Given the description of an element on the screen output the (x, y) to click on. 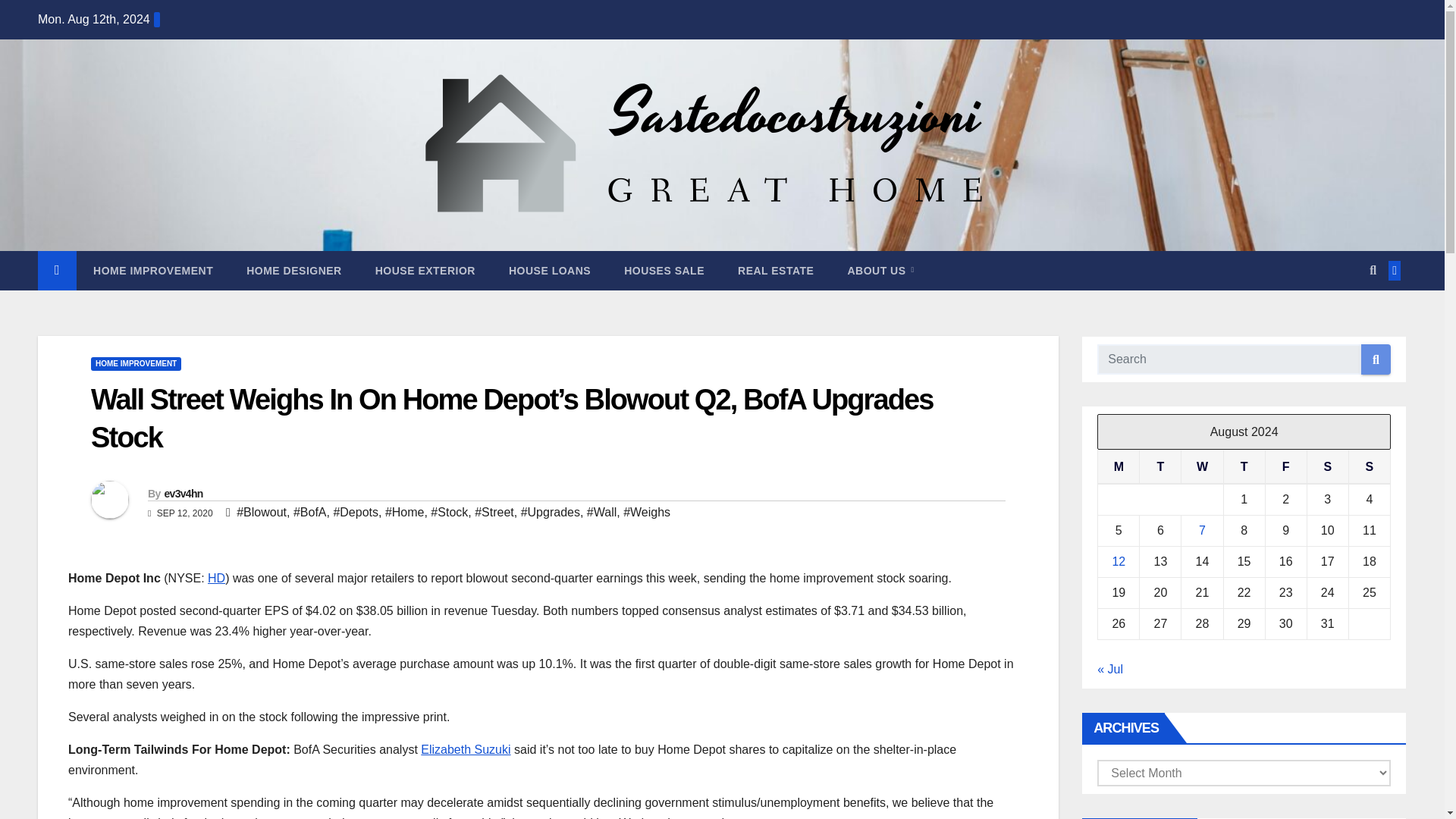
ABOUT US (879, 270)
Houses Sale (663, 270)
About Us (879, 270)
real estate (774, 270)
House Loans (549, 270)
HOME IMPROVEMENT (153, 270)
HOUSE LOANS (549, 270)
HOUSE EXTERIOR (425, 270)
Home Designer (294, 270)
HOUSES SALE (663, 270)
